Given the description of an element on the screen output the (x, y) to click on. 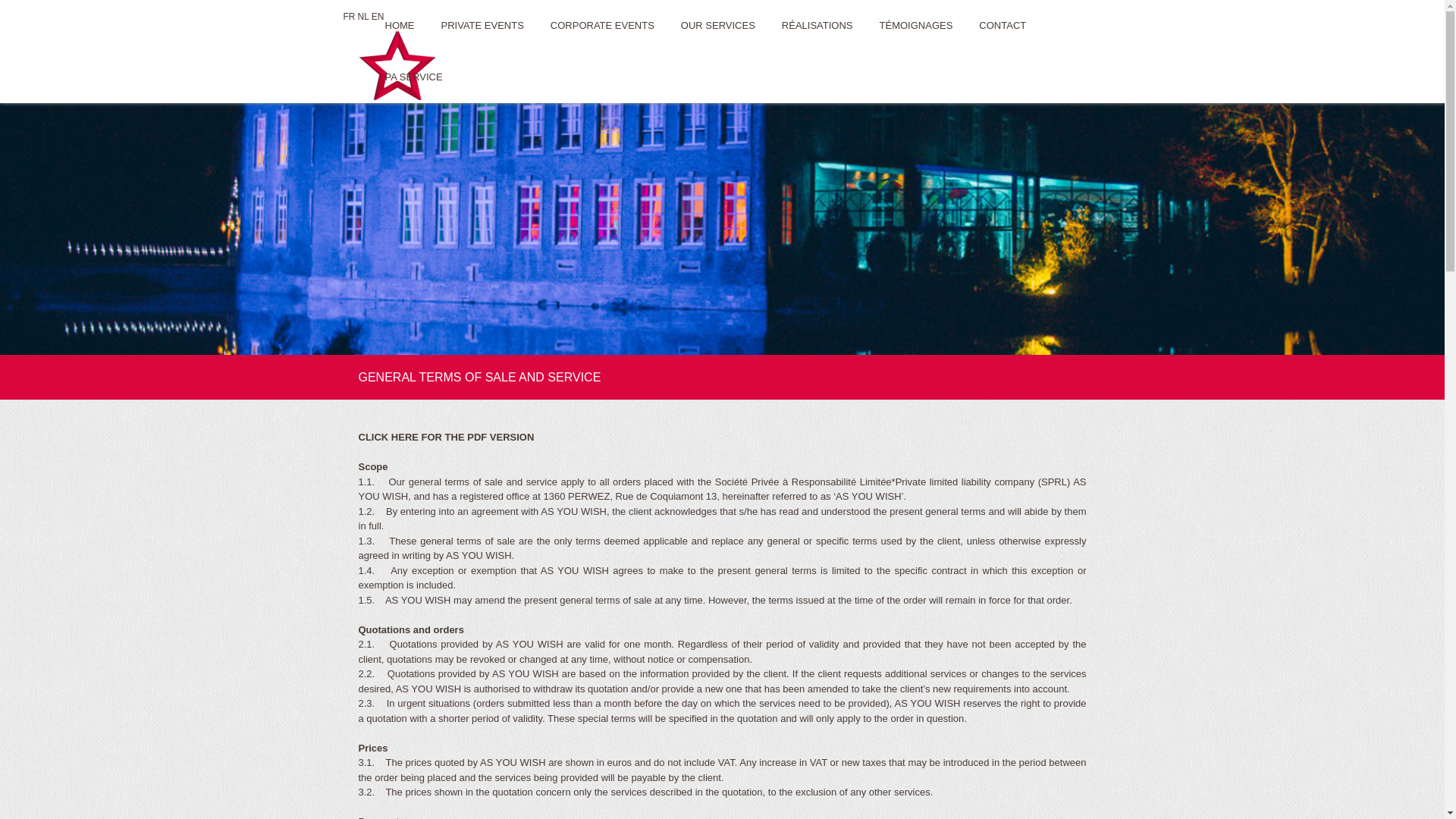
OUR SERVICES Element type: text (717, 25)
EN Element type: text (377, 16)
facebook.com/asyouwish.be Element type: text (495, 636)
CONTACT Element type: text (1002, 25)
PRIVATE EVENTS Element type: text (482, 25)
General terms and conditions Element type: text (517, 767)
info(@)asyouwish.be Element type: text (483, 592)
FR Element type: text (348, 16)
www.asyouwish.be Element type: text (480, 622)
PA SERVICE Element type: text (413, 77)
HOME Element type: text (399, 25)
CLICK HERE FOR THE PDF VERSION Element type: text (445, 436)
CORPORATE EVENTS Element type: text (602, 25)
NL Element type: text (363, 16)
